Given the description of an element on the screen output the (x, y) to click on. 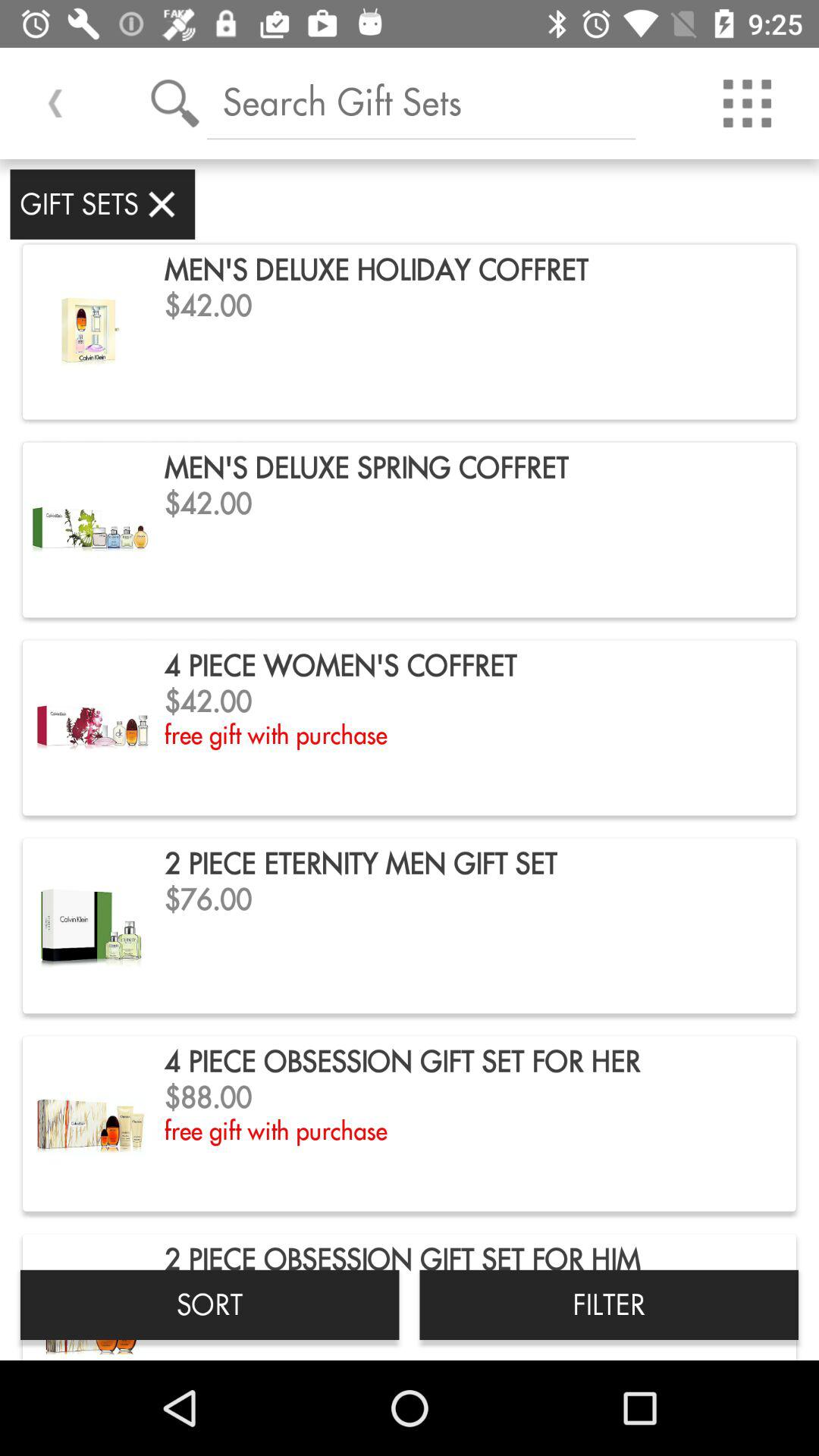
turn off the item to the left of filter icon (209, 1304)
